Given the description of an element on the screen output the (x, y) to click on. 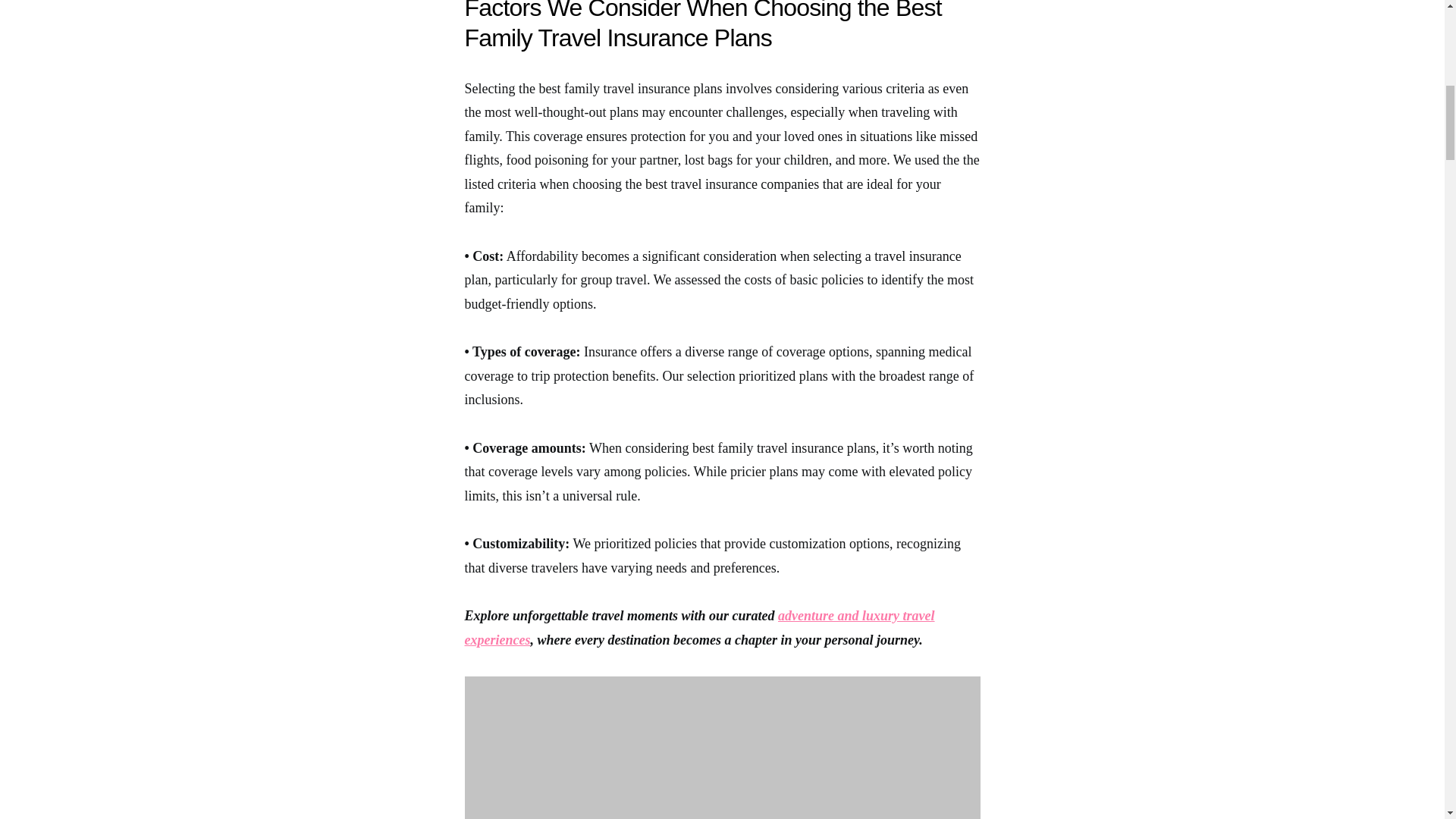
adventure and luxury travel experiences (699, 627)
